Given the description of an element on the screen output the (x, y) to click on. 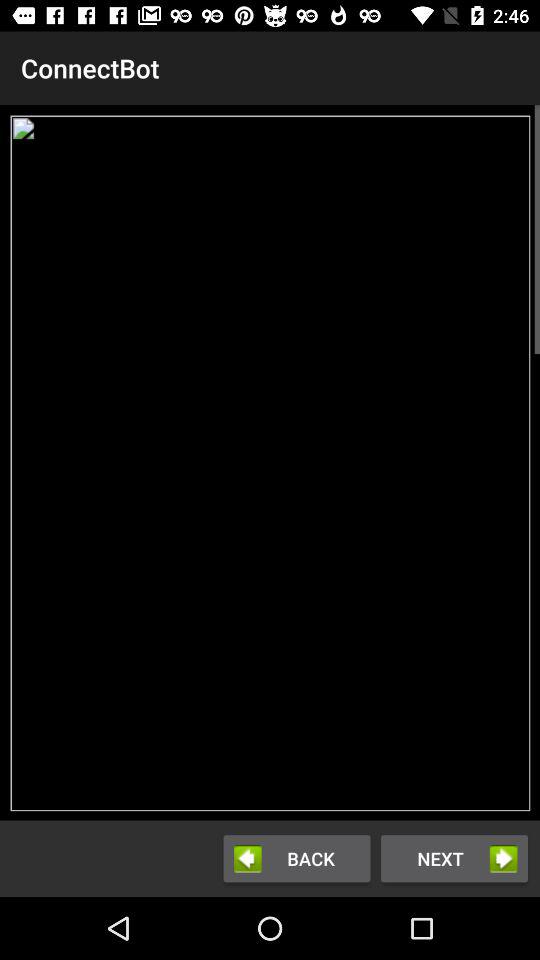
choose icon to the right of the back button (454, 858)
